Given the description of an element on the screen output the (x, y) to click on. 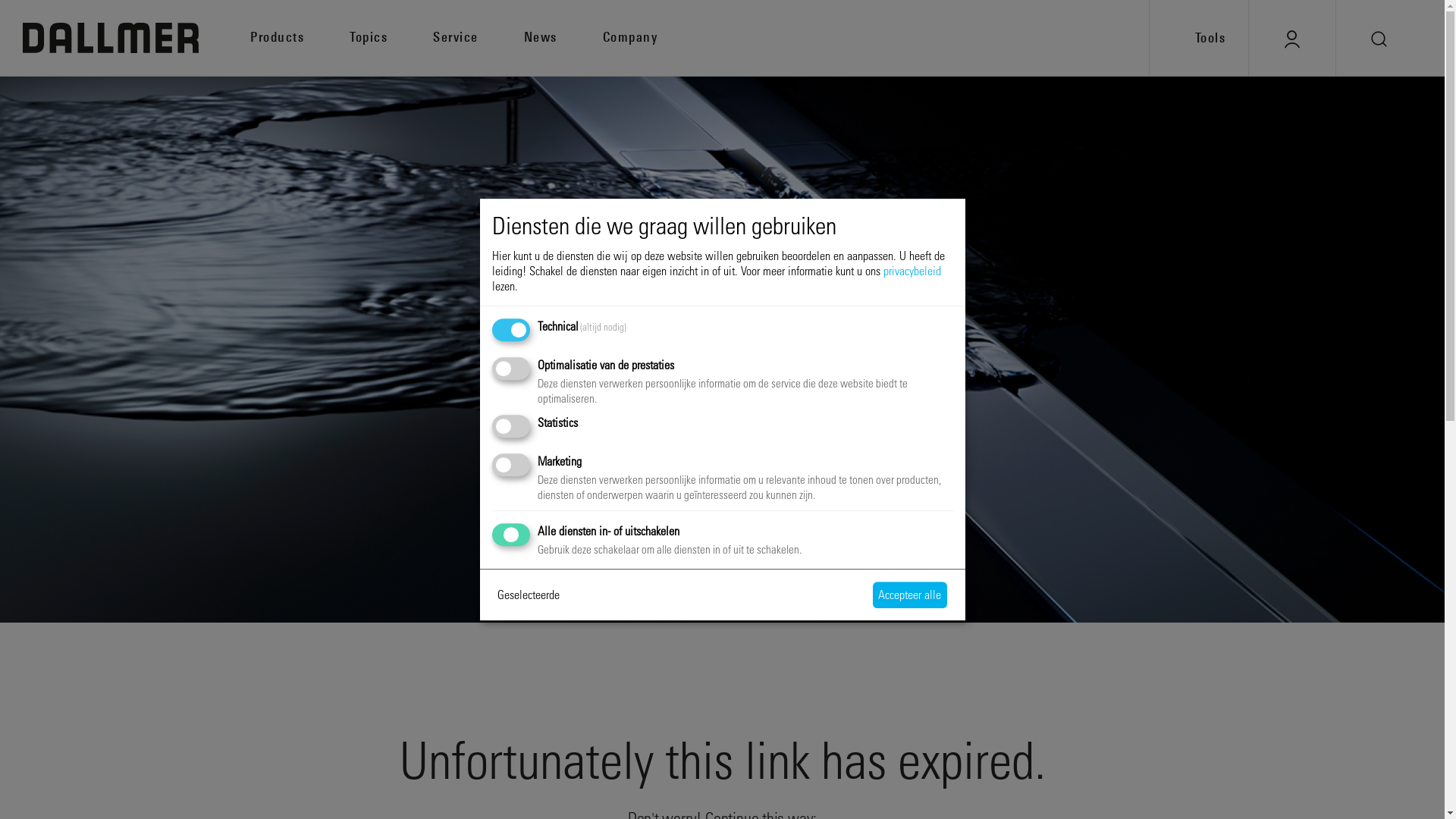
Products Element type: text (299, 36)
Tools Element type: text (1198, 37)
Accepteer alle Element type: text (909, 594)
Company Element type: text (652, 36)
Login Element type: text (1291, 37)
privacybeleid Element type: text (911, 270)
News Element type: text (562, 36)
Service Element type: text (478, 36)
Search Element type: text (1378, 37)
Topics Element type: text (391, 36)
Geselecteerde Element type: text (527, 594)
Go to home page Element type: hover (110, 37)
